Given the description of an element on the screen output the (x, y) to click on. 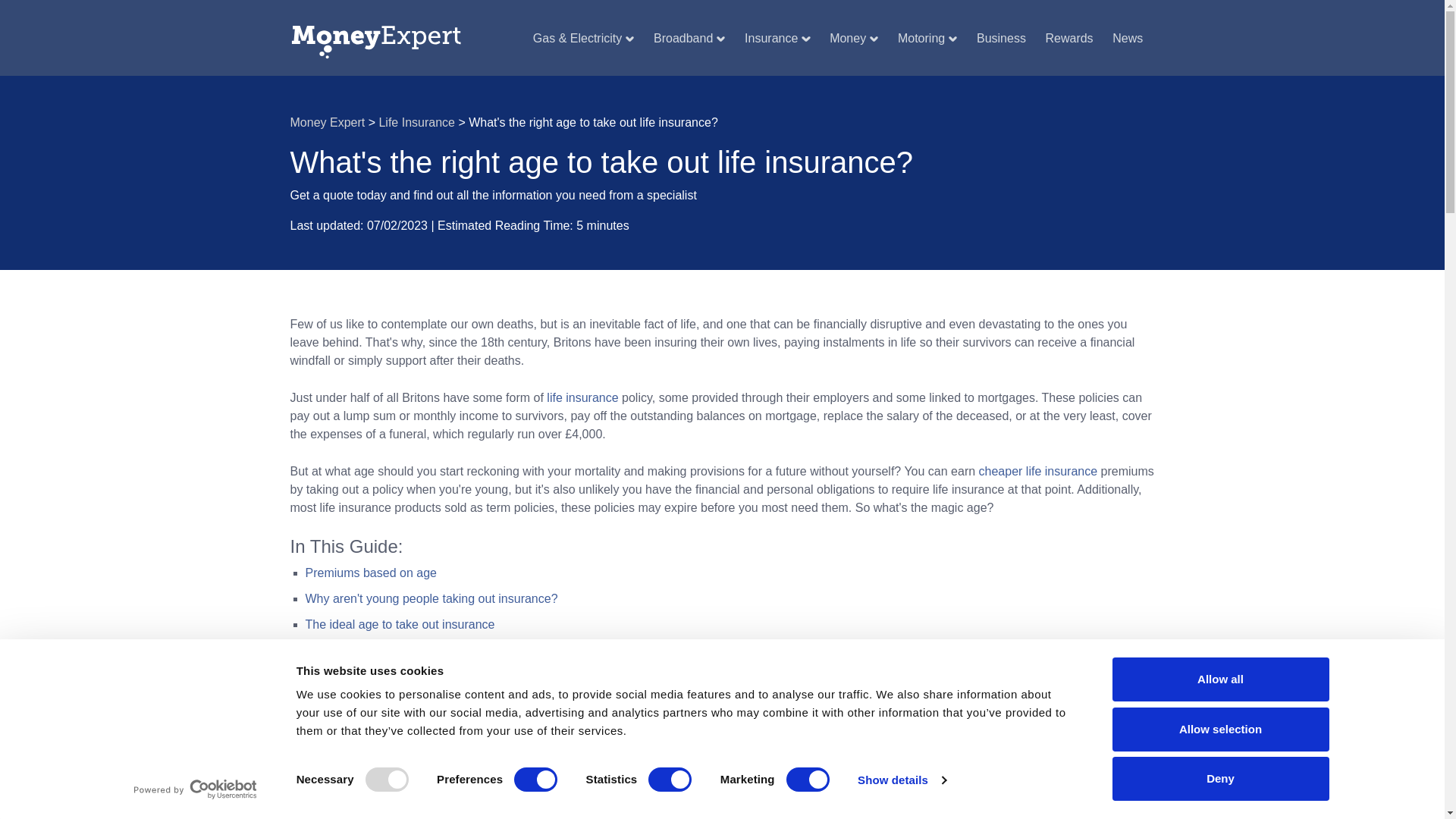
cheap life insurance (1037, 471)
Show details (900, 780)
life insurance (582, 397)
Deny (1219, 778)
Allow selection (1219, 728)
Allow all (1219, 679)
